Given the description of an element on the screen output the (x, y) to click on. 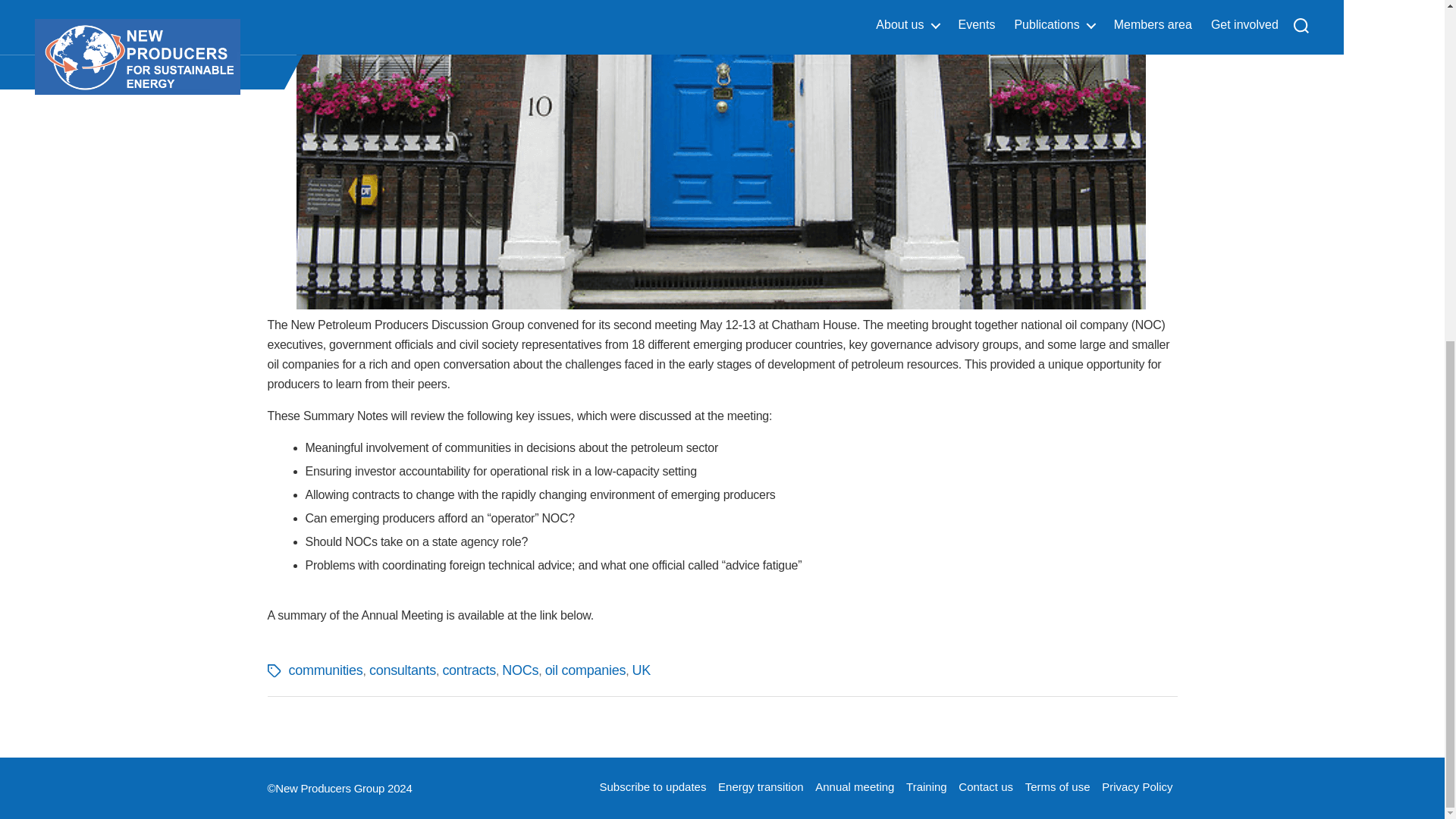
consultants (402, 670)
contracts (469, 670)
communities (325, 670)
